Given the description of an element on the screen output the (x, y) to click on. 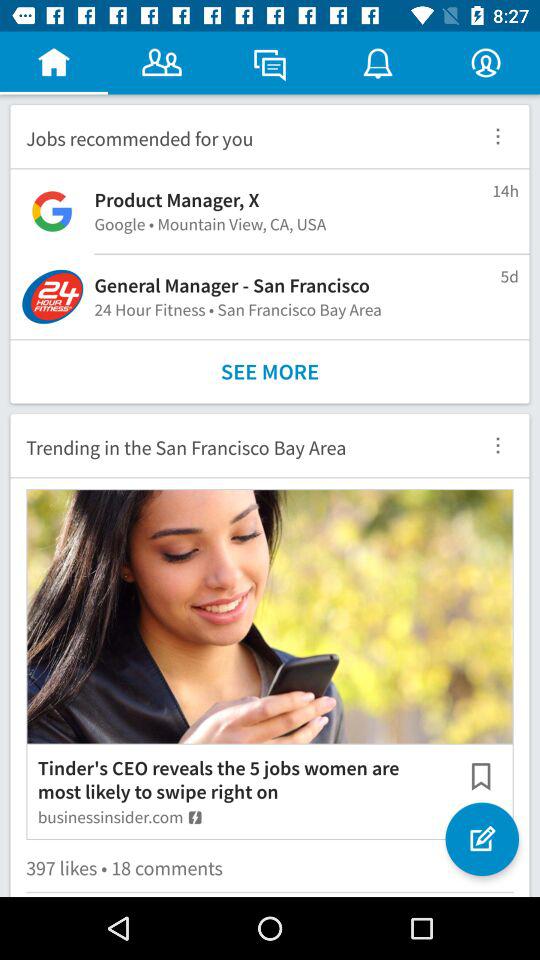
turn off the item above the trending in the icon (269, 371)
